Given the description of an element on the screen output the (x, y) to click on. 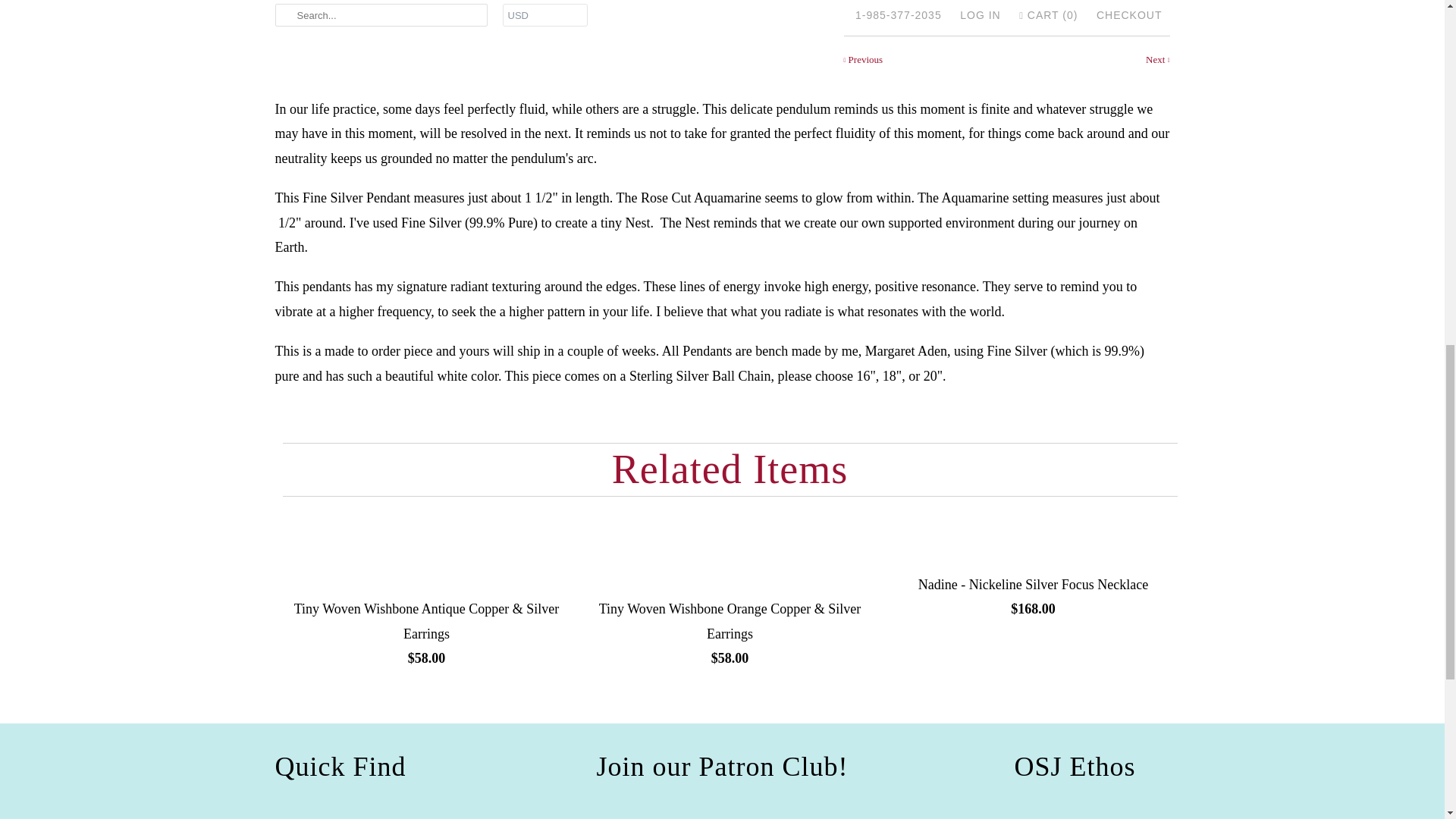
Share this on Pinterest (1005, 11)
Share this on Twitter (903, 11)
Share this on Facebook (955, 11)
